Given the description of an element on the screen output the (x, y) to click on. 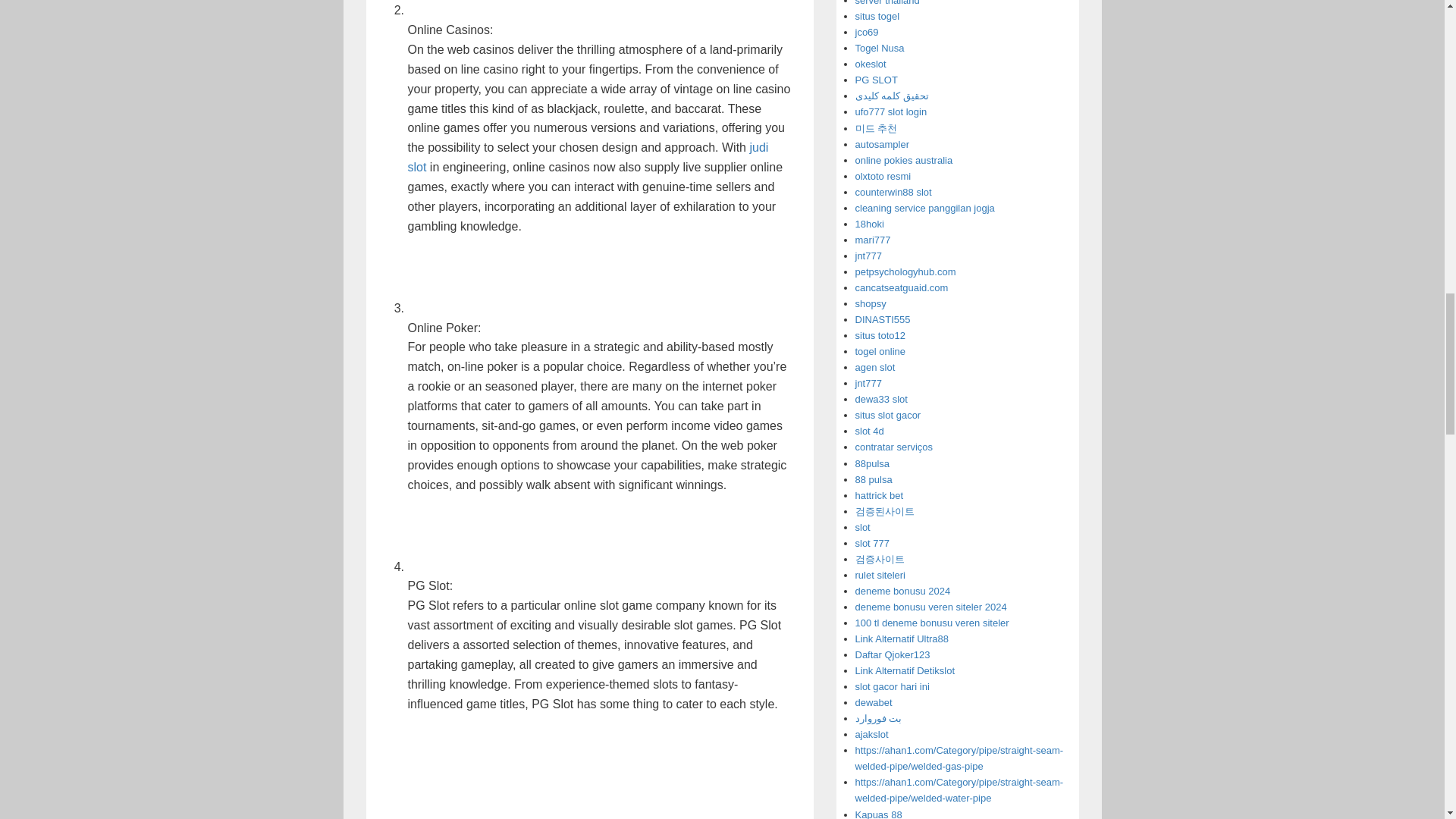
judi slot (587, 156)
